Given the description of an element on the screen output the (x, y) to click on. 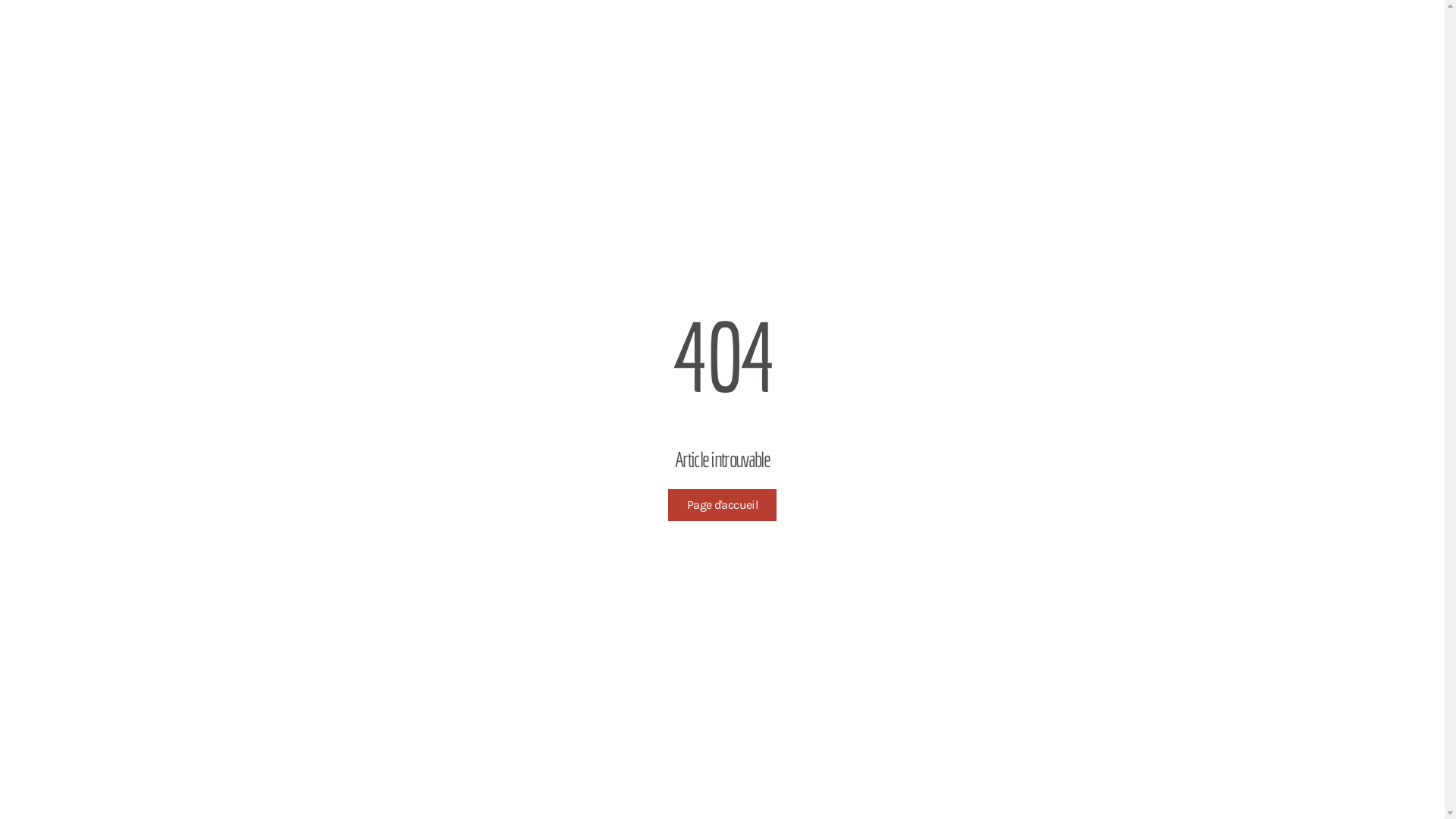
Page d'accueil Element type: text (722, 504)
